Given the description of an element on the screen output the (x, y) to click on. 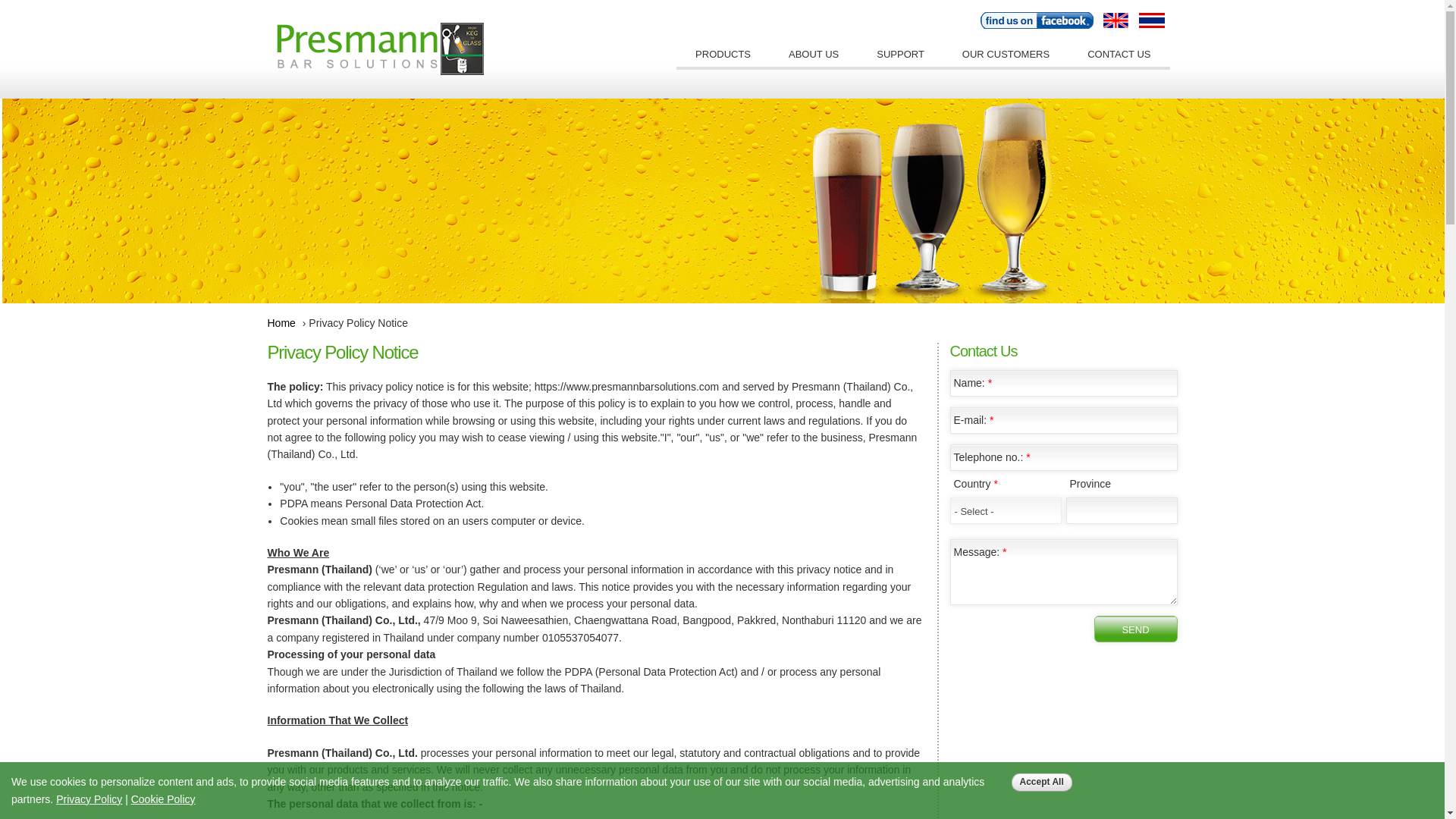
Skip to main content (691, 1)
SEND (1134, 628)
English (1115, 20)
Accept All (1041, 782)
